Given the description of an element on the screen output the (x, y) to click on. 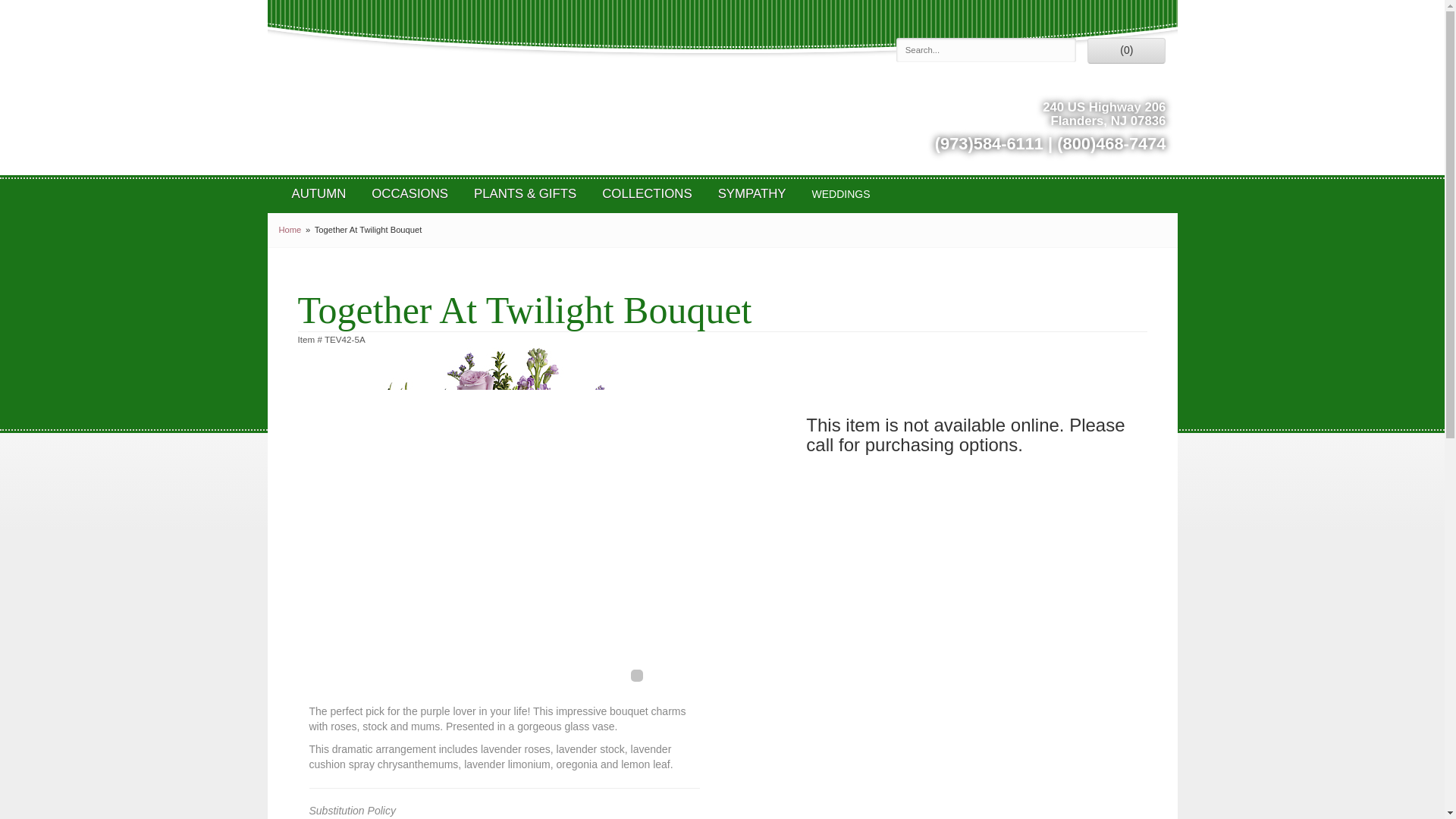
COLLECTIONS (646, 193)
SYMPATHY (751, 193)
AUTUMN (319, 193)
FLANDERS FLORIST (728, 85)
OCCASIONS (409, 193)
WEDDINGS (839, 193)
